Given the description of an element on the screen output the (x, y) to click on. 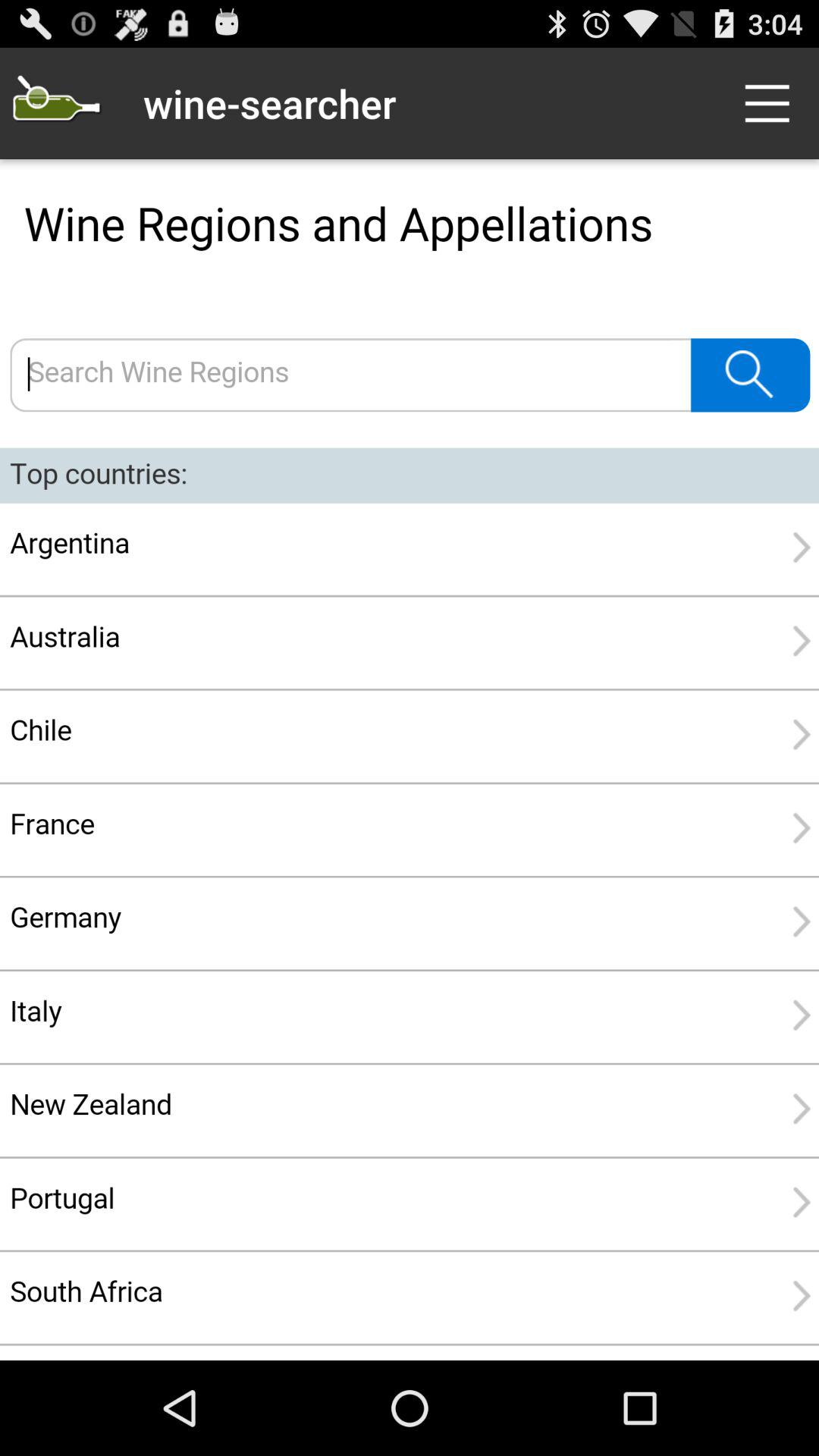
go to home (55, 103)
